Given the description of an element on the screen output the (x, y) to click on. 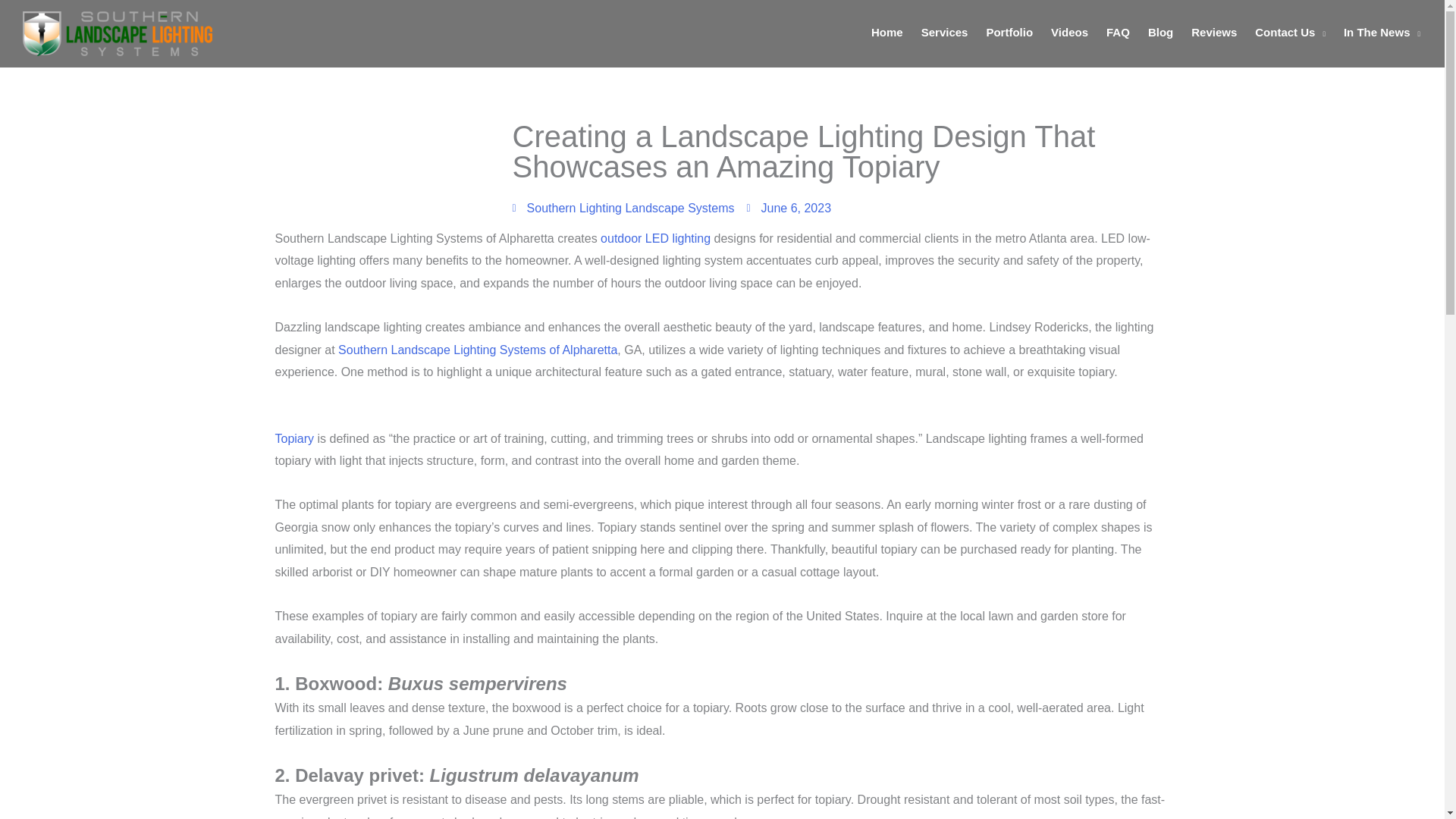
In The News (1382, 31)
Reviews (1214, 31)
Southern Landscape Lighting Systems of Alpharetta (477, 349)
FAQ (1117, 31)
Contact Us (1290, 31)
outdoor LED lighting (654, 237)
Home (886, 31)
Videos (1069, 31)
Portfolio (1009, 31)
Services (944, 31)
